Given the description of an element on the screen output the (x, y) to click on. 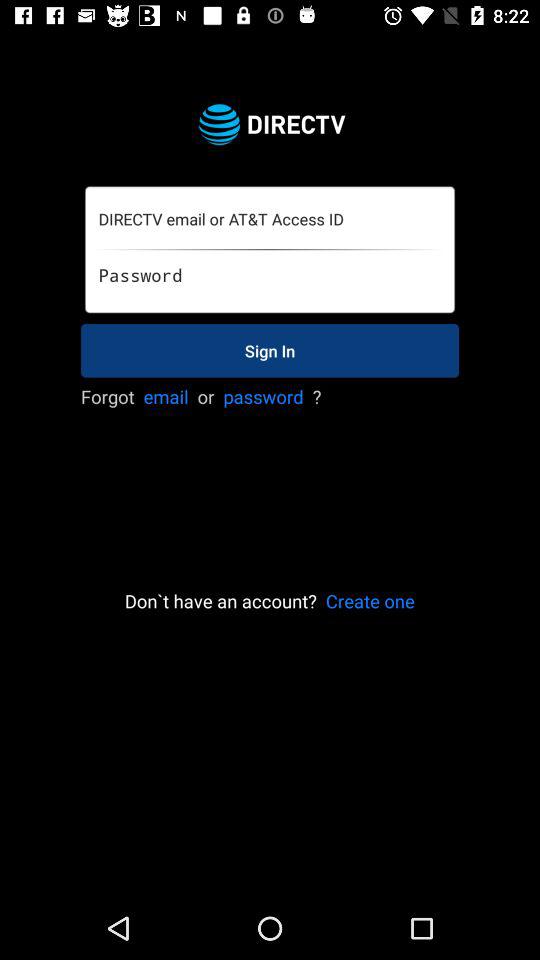
login id (269, 219)
